Given the description of an element on the screen output the (x, y) to click on. 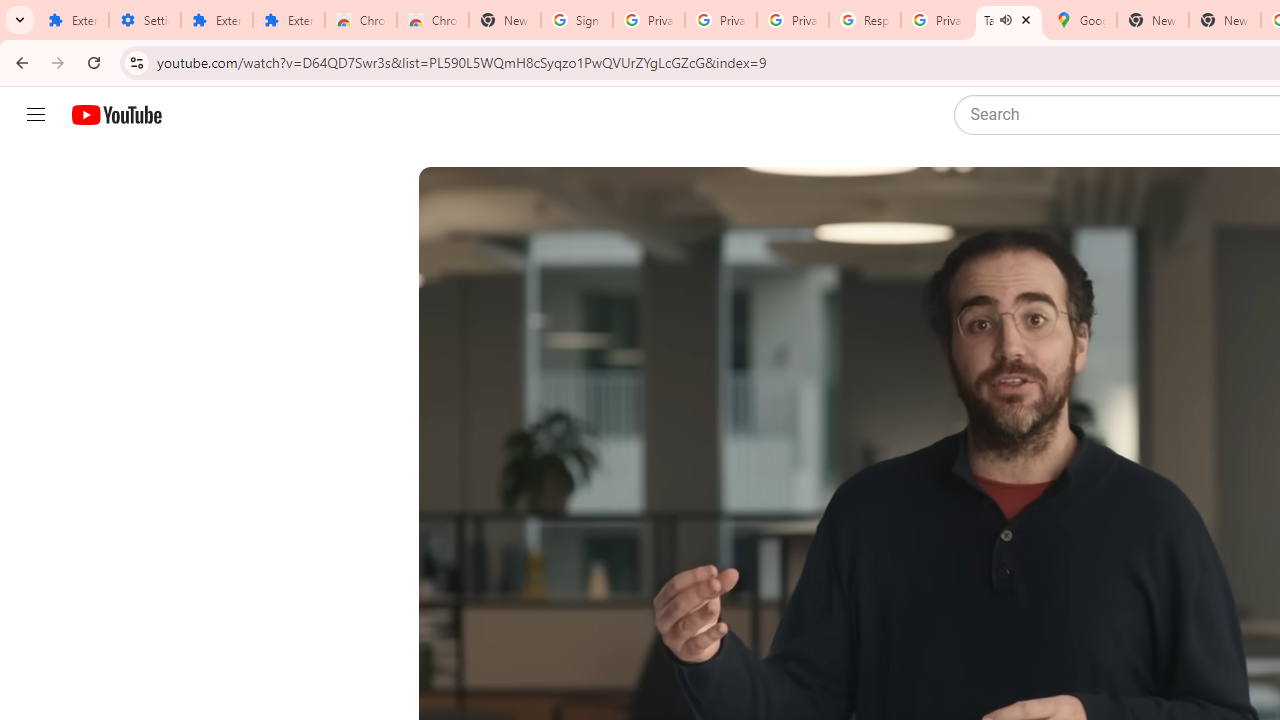
Mute tab (1005, 20)
YouTube Home (116, 115)
Chrome Web Store - Themes (432, 20)
Chrome Web Store (360, 20)
Extensions (289, 20)
New Tab (504, 20)
Guide (35, 115)
Extensions (216, 20)
